Given the description of an element on the screen output the (x, y) to click on. 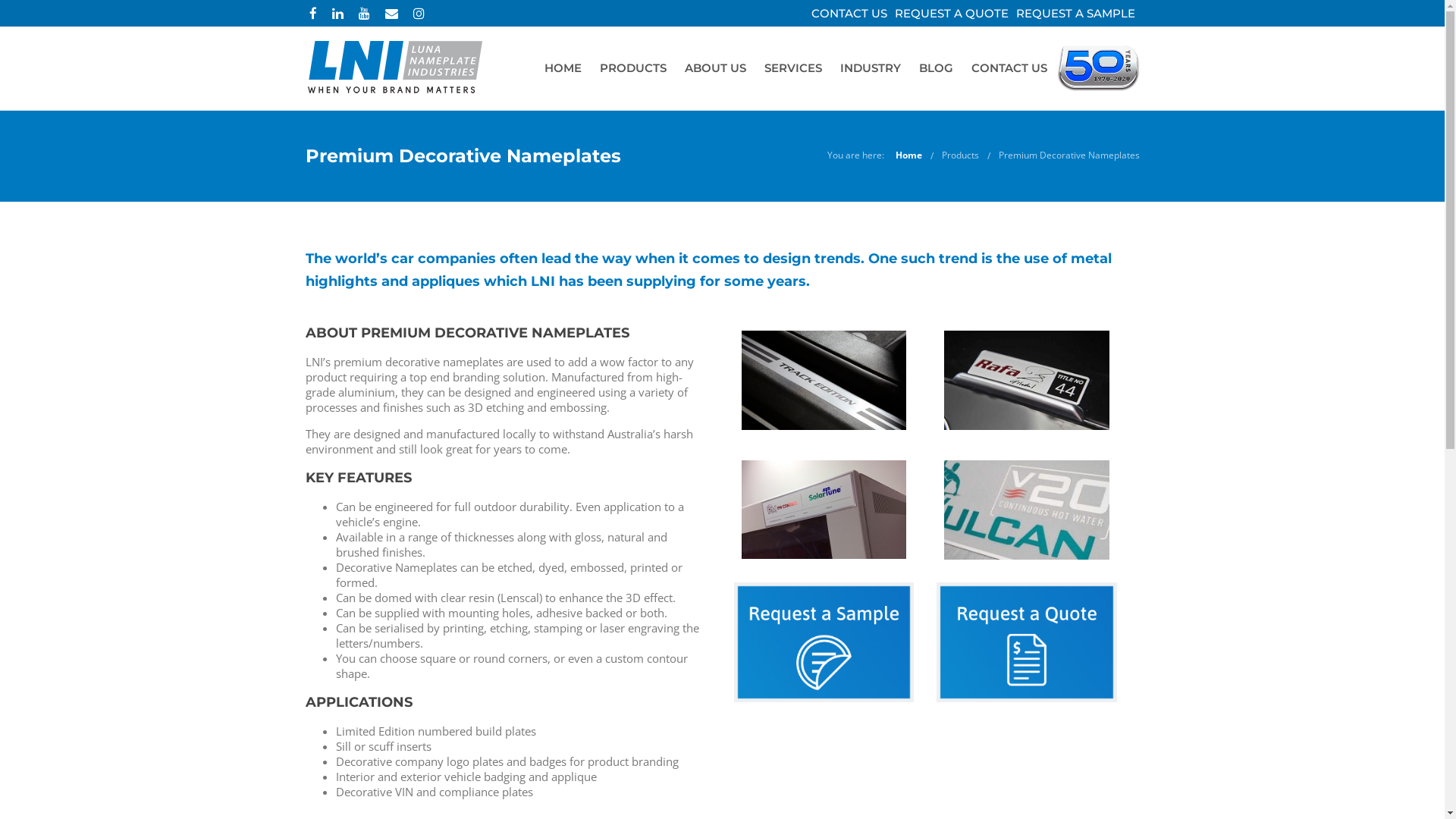
HOME Element type: text (562, 67)
CONTACT US Element type: text (1008, 67)
PRODUCTS Element type: text (631, 67)
BLOG Element type: text (936, 67)
CONTACT US Element type: text (849, 13)
REQUEST A QUOTE Element type: text (951, 13)
INDUSTRY Element type: text (870, 67)
Products Element type: text (960, 154)
Premium Decorative Nameplates Element type: text (1068, 154)
REQUEST A SAMPLE Element type: text (1075, 13)
Home Element type: text (907, 154)
ABOUT US Element type: text (714, 67)
SERVICES Element type: text (793, 67)
